Given the description of an element on the screen output the (x, y) to click on. 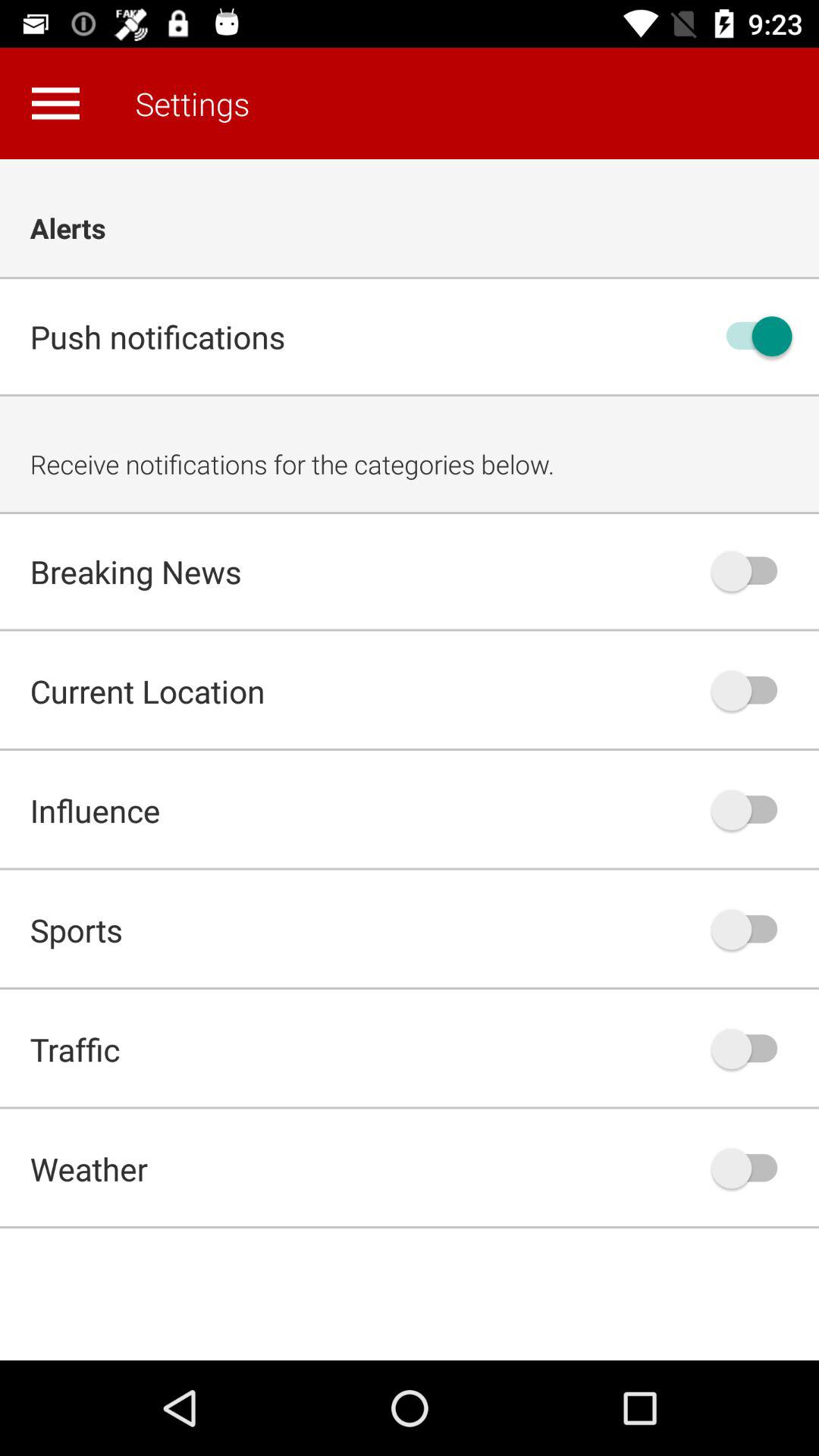
toggle current location (751, 690)
